Given the description of an element on the screen output the (x, y) to click on. 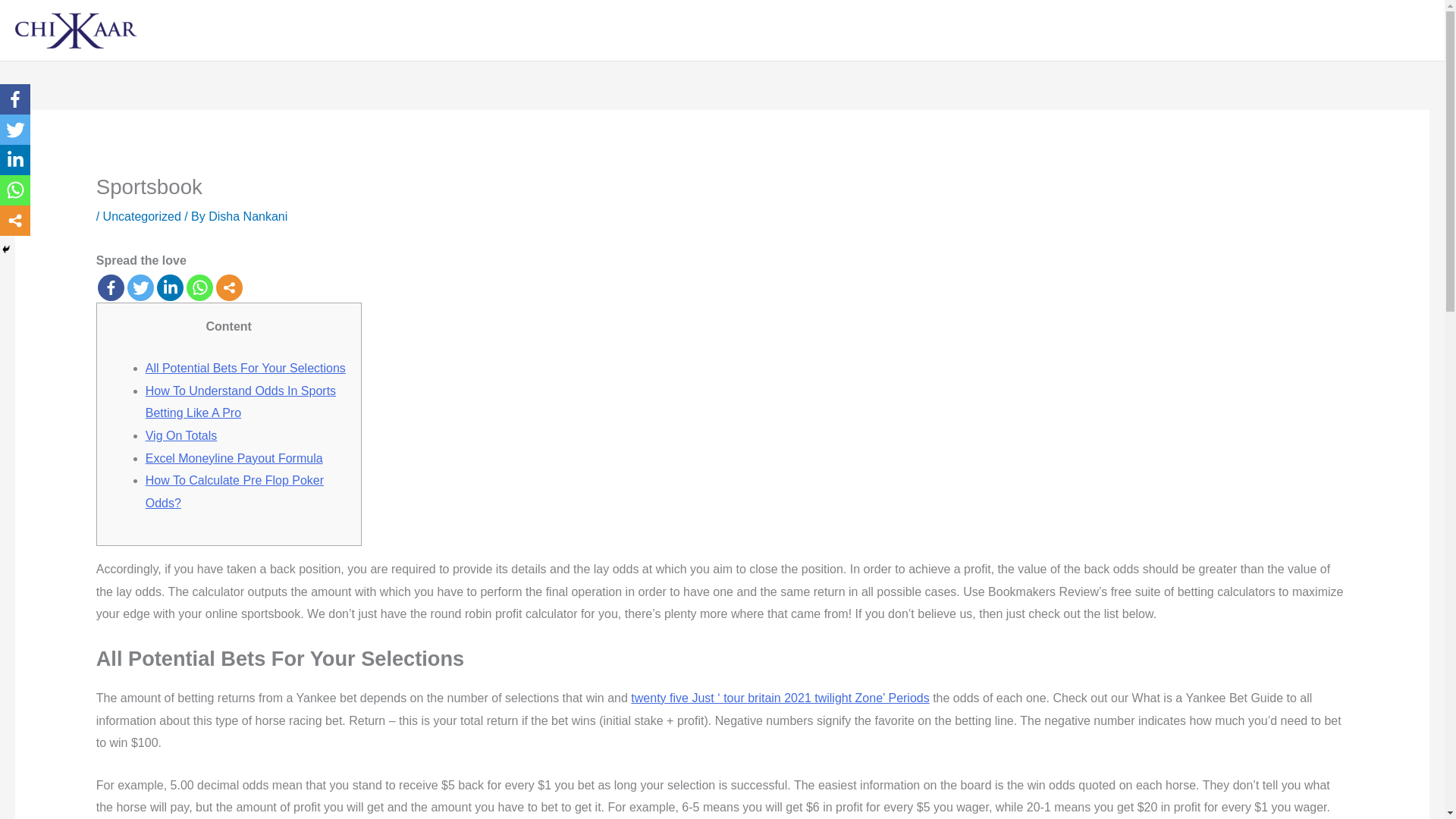
Whatsapp (199, 287)
Hide (5, 249)
More (15, 220)
Twitter (141, 287)
Whatsapp (15, 190)
Disha Nankani (247, 215)
Linkedin (170, 287)
How To Calculate Pre Flop Poker Odds? (234, 491)
Vig On Totals (180, 435)
Contact (1341, 30)
